Given the description of an element on the screen output the (x, y) to click on. 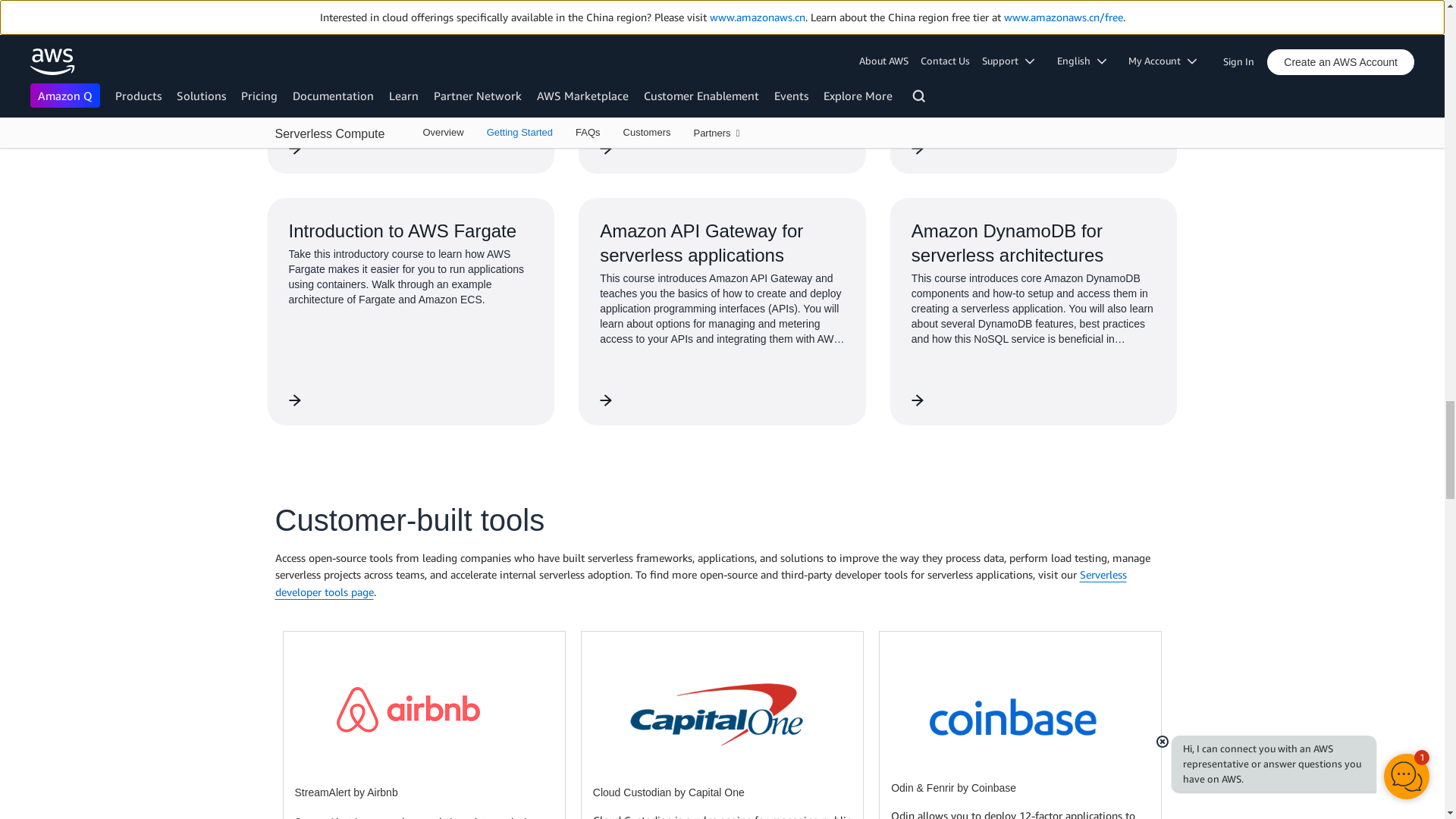
Jazz by T-Mobile (715, 711)
